Given the description of an element on the screen output the (x, y) to click on. 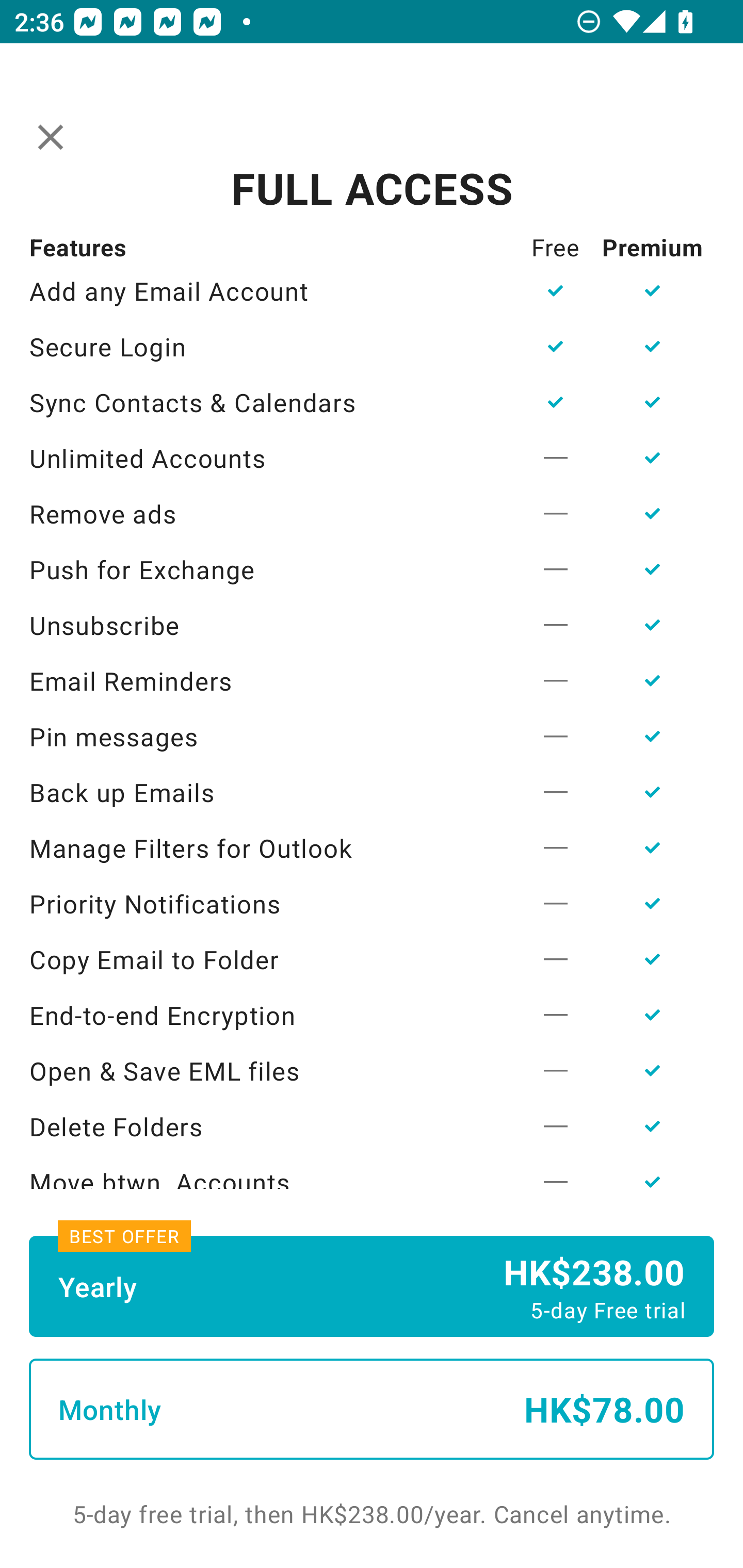
Yearly HK$238.00 5-day Free trial (371, 1286)
Monthly HK$78.00 (371, 1408)
